Given the description of an element on the screen output the (x, y) to click on. 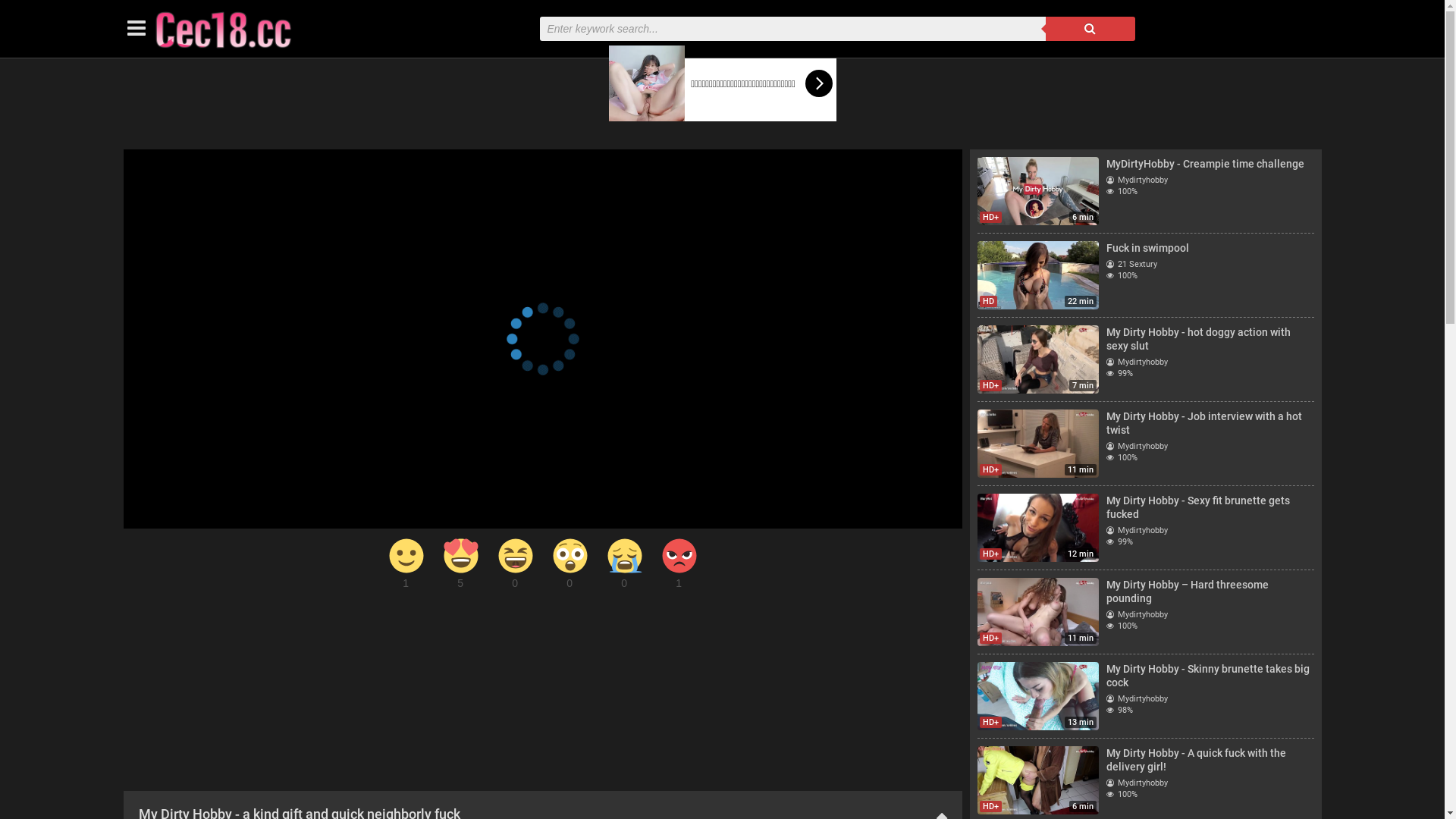
22 min
HD
Fuck in swimpool
21 Sextury
100% Element type: text (1144, 275)
